Given the description of an element on the screen output the (x, y) to click on. 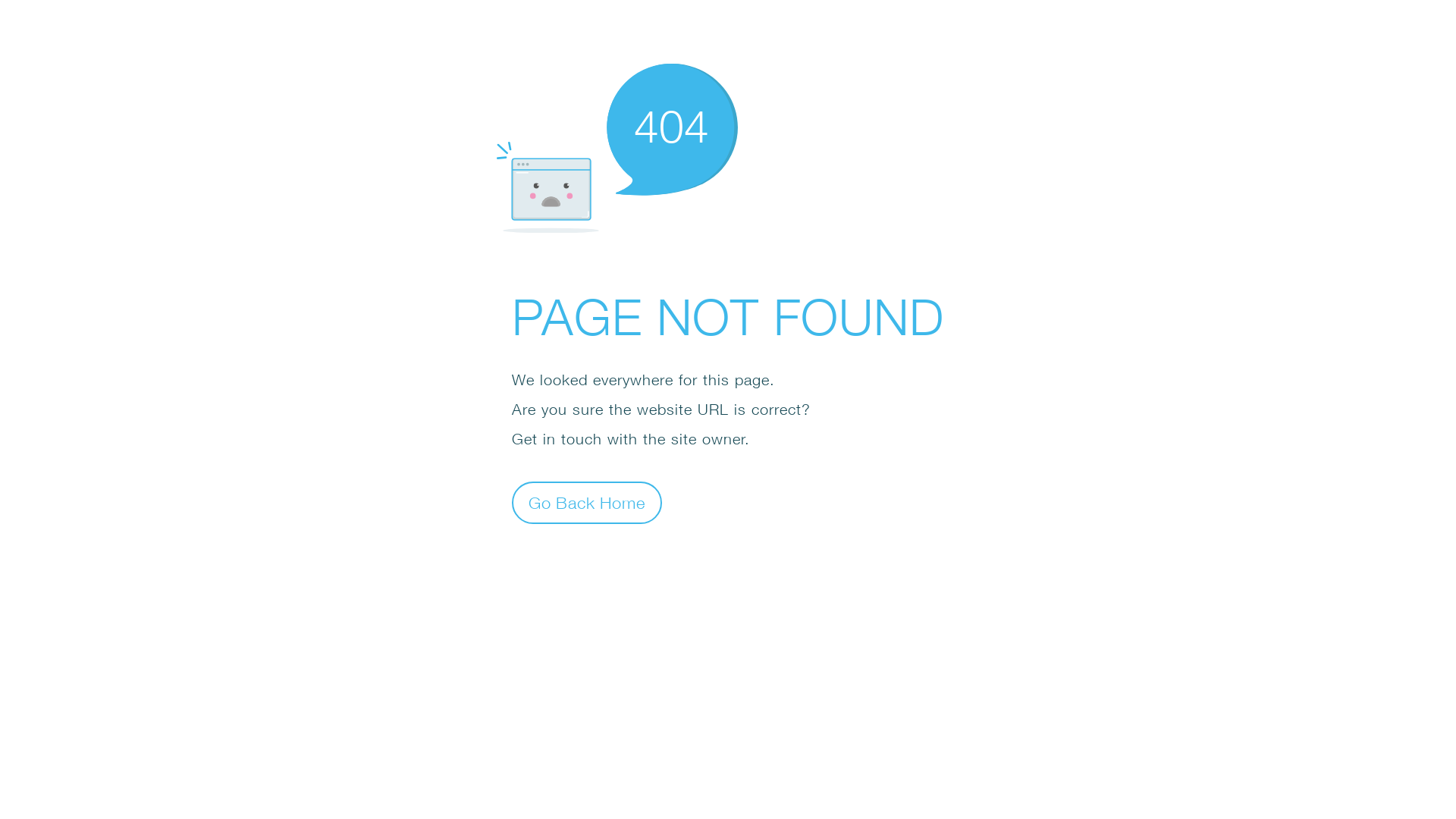
Go Back Home Element type: text (586, 502)
